Given the description of an element on the screen output the (x, y) to click on. 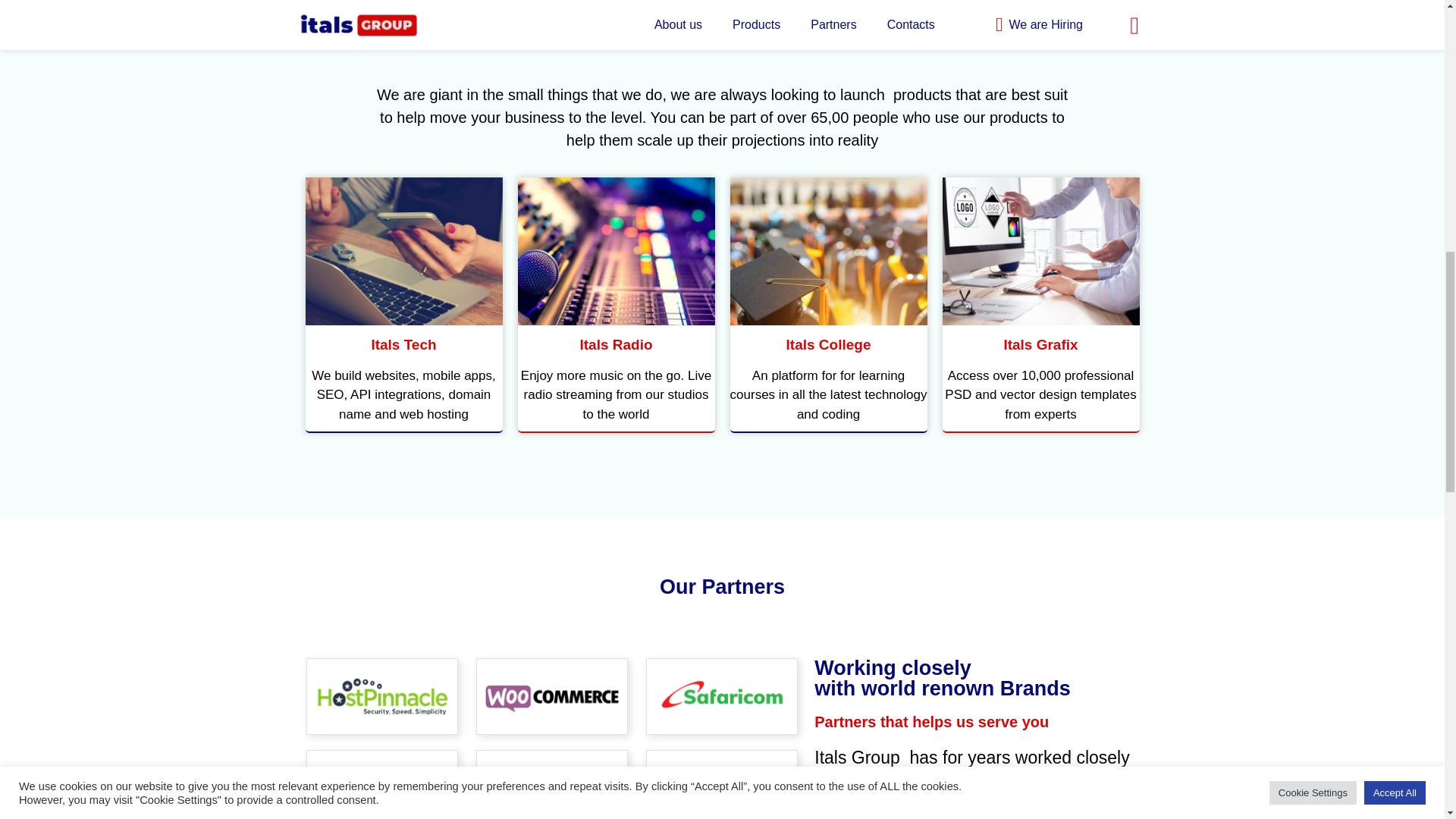
Partners that helps us serve you (930, 721)
Our Initiatives (721, 42)
Itals College (828, 344)
Itals Radio (615, 344)
Itals Grafix (1040, 344)
design (941, 678)
Itals Tech (1040, 251)
graduate (403, 344)
radio 002 (827, 251)
